Given the description of an element on the screen output the (x, y) to click on. 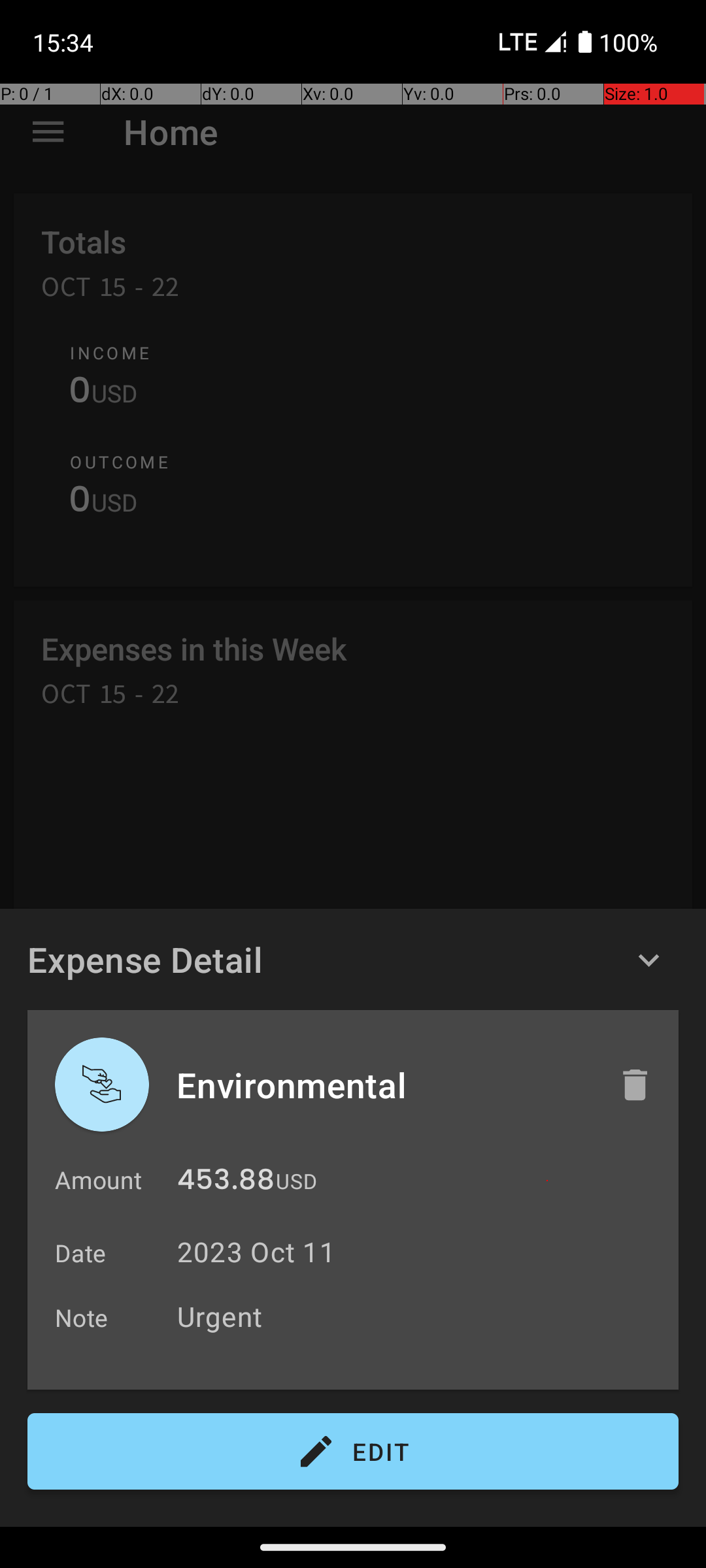
Environmental Element type: android.widget.TextView (383, 1084)
453.88 Element type: android.widget.TextView (225, 1182)
